Given the description of an element on the screen output the (x, y) to click on. 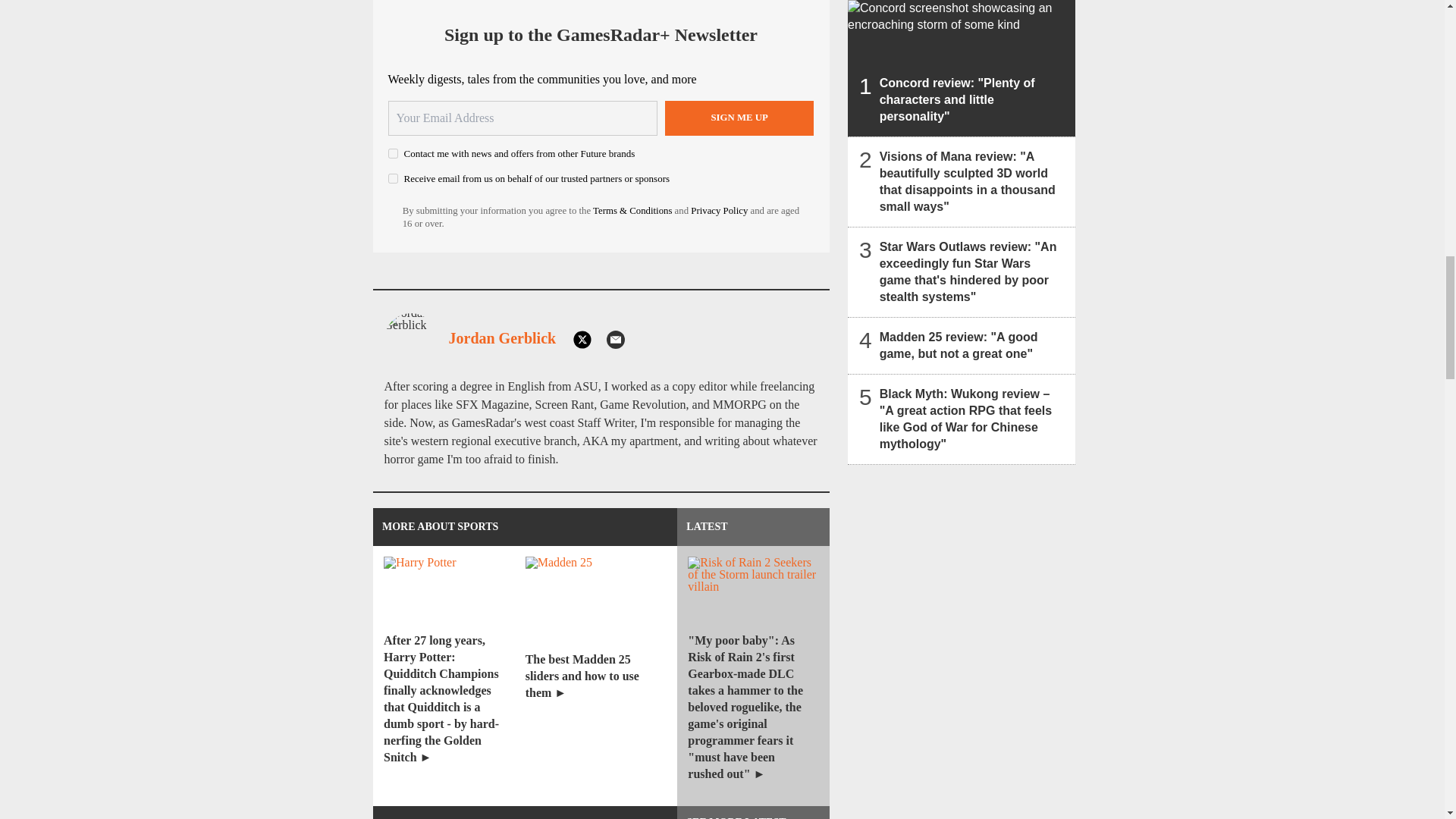
Sign me up (739, 117)
on (392, 153)
on (392, 178)
